Given the description of an element on the screen output the (x, y) to click on. 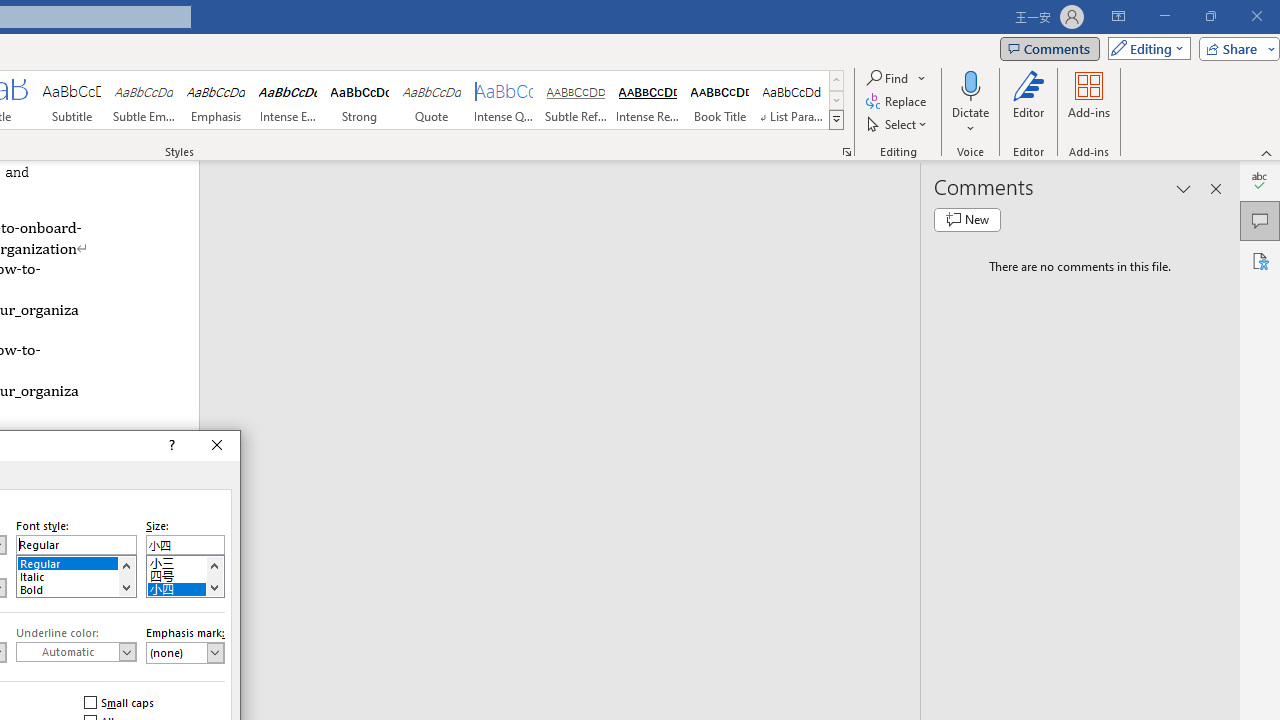
Bold (75, 587)
Emphasis (216, 100)
Ribbon Display Options (1118, 16)
Size: (185, 544)
Accessibility (1260, 260)
Styles... (846, 151)
Line down (214, 587)
Emphasis mark: (185, 652)
Restore Down (1210, 16)
Quote (431, 100)
Intense Quote (504, 100)
Dictate (970, 84)
Find (888, 78)
